Given the description of an element on the screen output the (x, y) to click on. 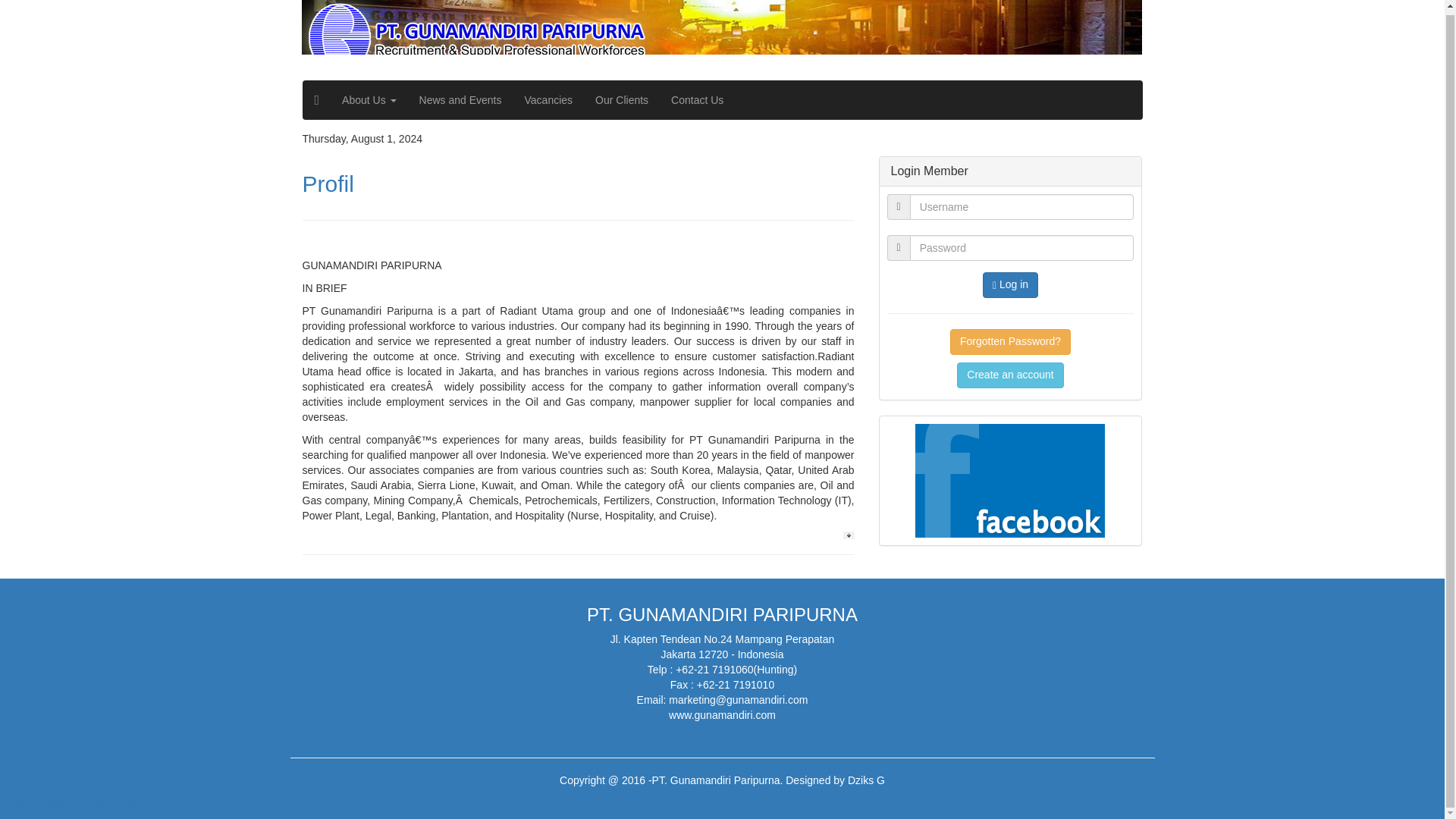
Forgotten Password? (1010, 341)
Vacancies (549, 99)
Contact Us (697, 99)
Our Clients (621, 99)
News and Events (460, 99)
Contact Us (697, 99)
About Us (368, 99)
Vacancies (549, 99)
About Us (368, 99)
Create an account (1009, 375)
Profil (327, 183)
Log in (1010, 284)
Our Clients (621, 99)
Drew Sample Authentic Jersey (72, 802)
News and Events (460, 99)
